Given the description of an element on the screen output the (x, y) to click on. 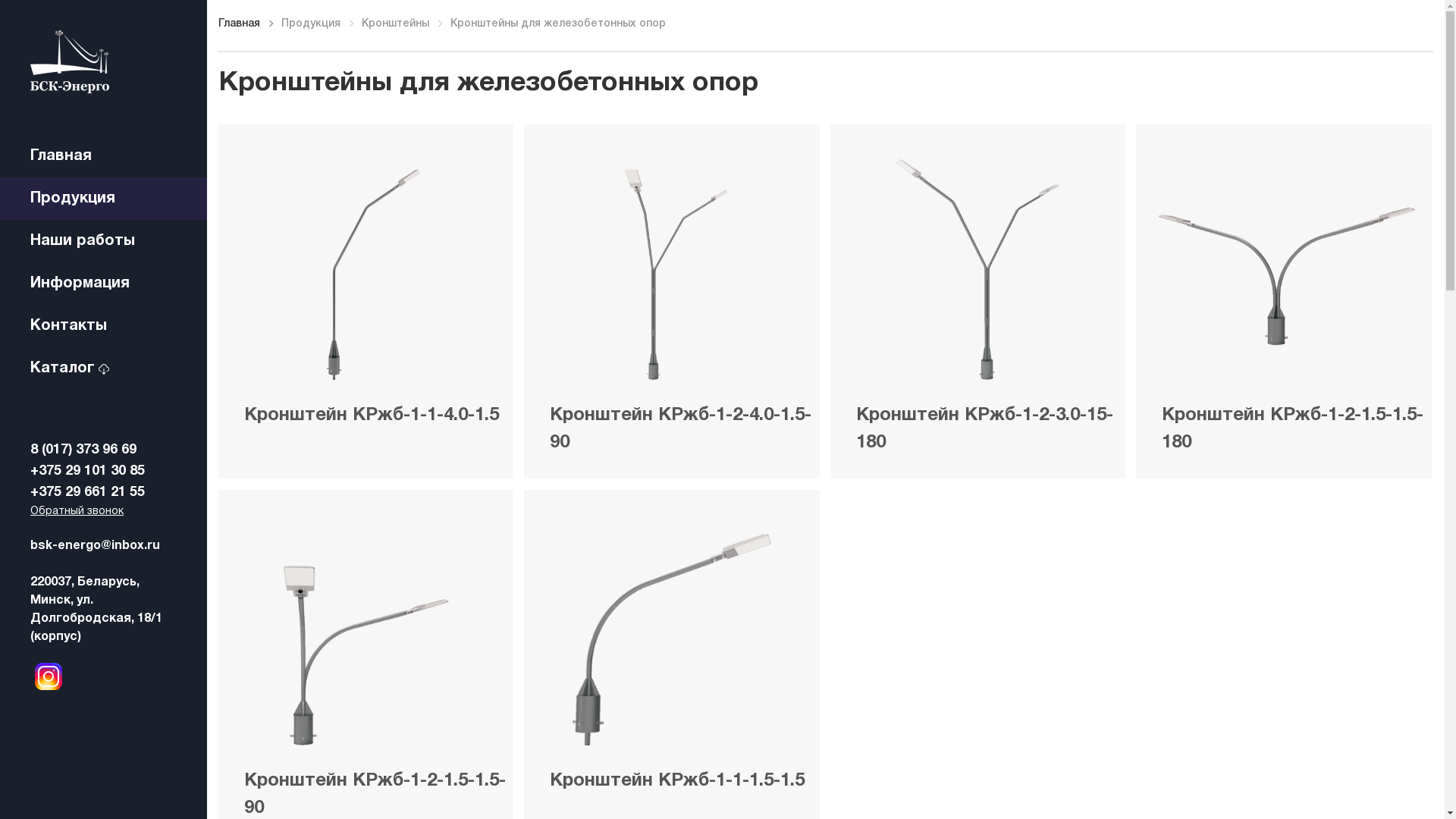
8 (017) 373 96 69 Element type: text (103, 450)
+375 29 101 30 85 Element type: text (103, 471)
bsk-energo@inbox.ru Element type: text (103, 545)
+375 29 661 21 55 Element type: text (103, 492)
